Given the description of an element on the screen output the (x, y) to click on. 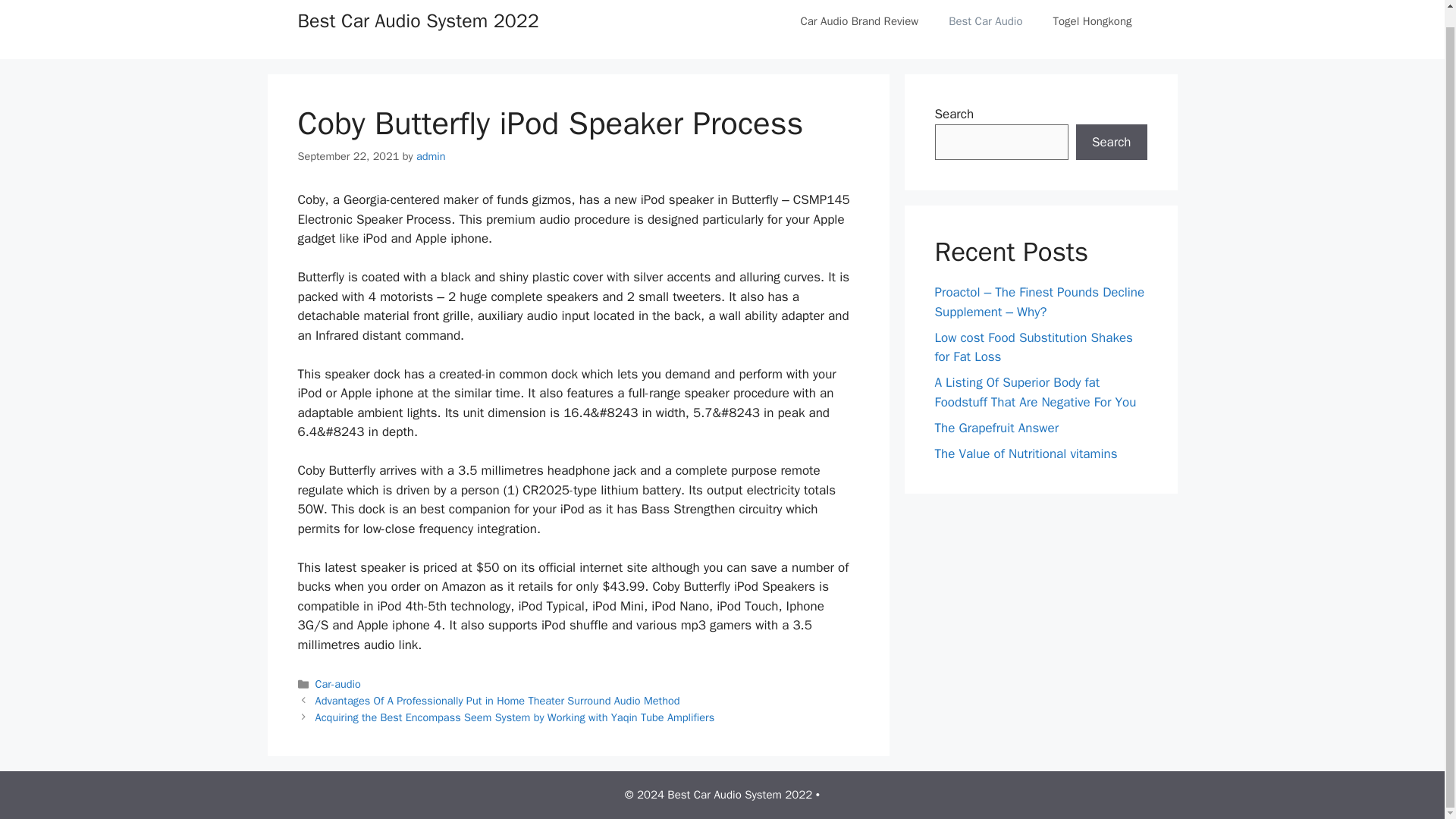
Best Car Audio (984, 22)
The Grapefruit Answer (996, 427)
Car Audio Brand Review (858, 22)
Best Car Audio System 2022 (417, 20)
View all posts by admin (430, 155)
Togel Hongkong (1091, 22)
admin (430, 155)
Search (1111, 142)
Low cost Food Substitution Shakes for Fat Loss (1033, 346)
The Value of Nutritional vitamins (1025, 453)
Car-audio (338, 684)
